Given the description of an element on the screen output the (x, y) to click on. 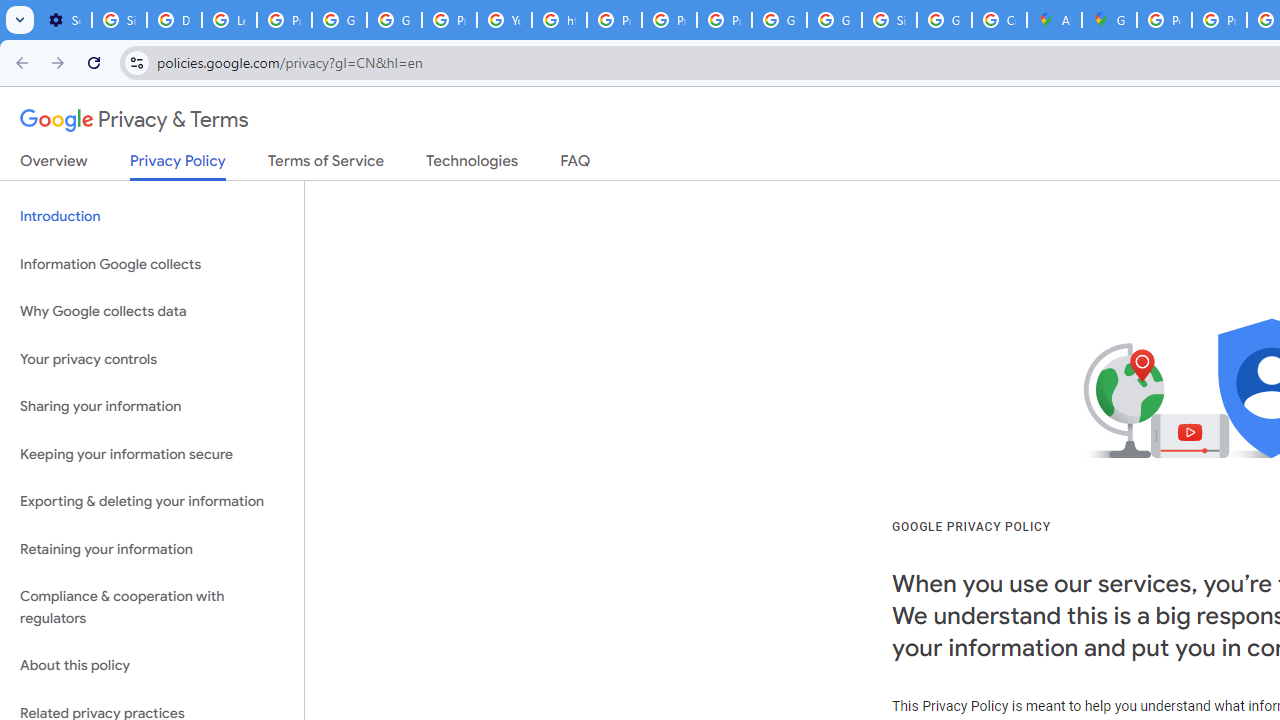
Create your Google Account (998, 20)
Privacy Help Center - Policies Help (614, 20)
Google Maps (1108, 20)
Privacy Help Center - Policies Help (1218, 20)
